Given the description of an element on the screen output the (x, y) to click on. 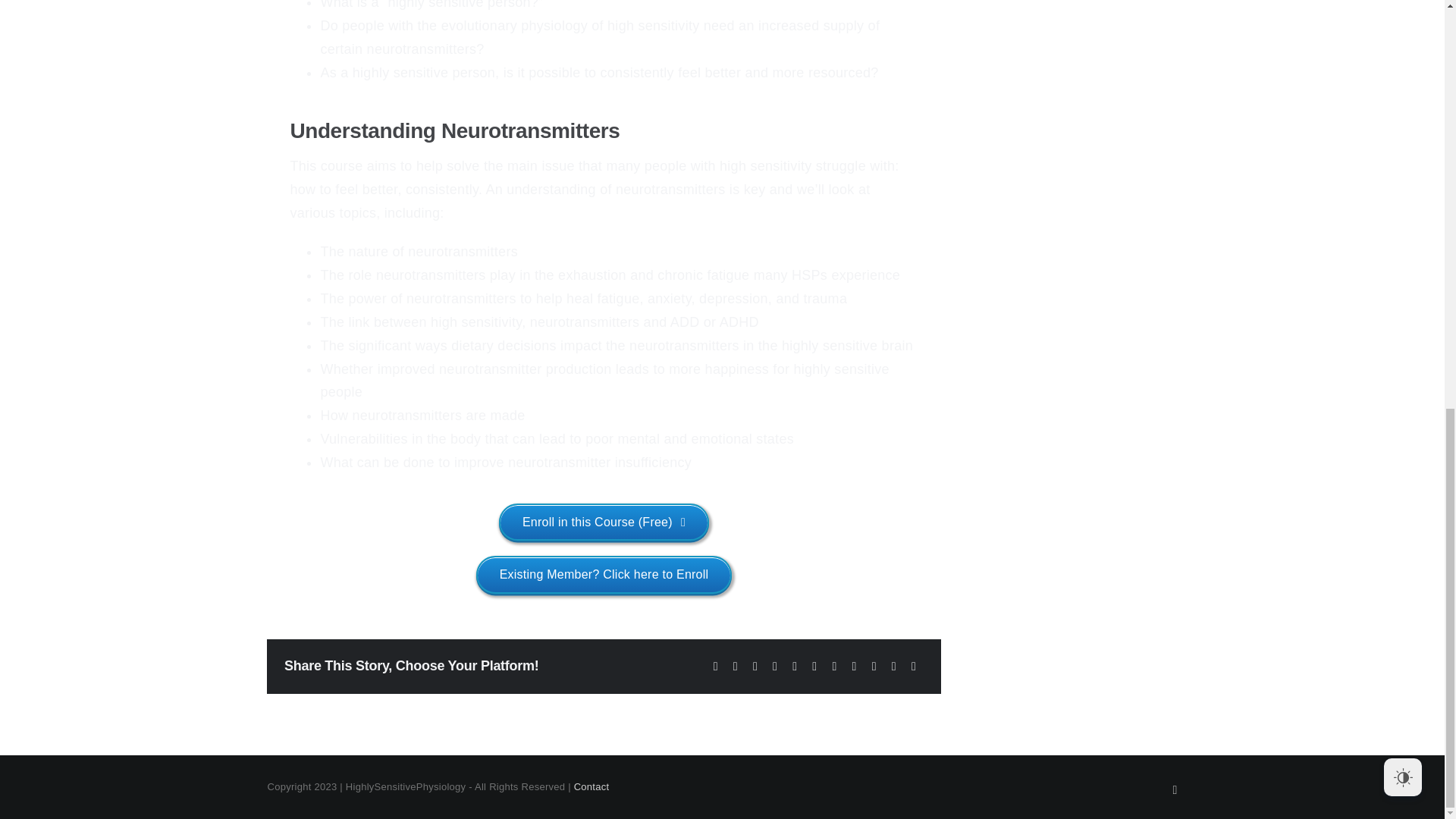
Existing Member? Click here to Enroll (604, 574)
Contact (591, 786)
